Given the description of an element on the screen output the (x, y) to click on. 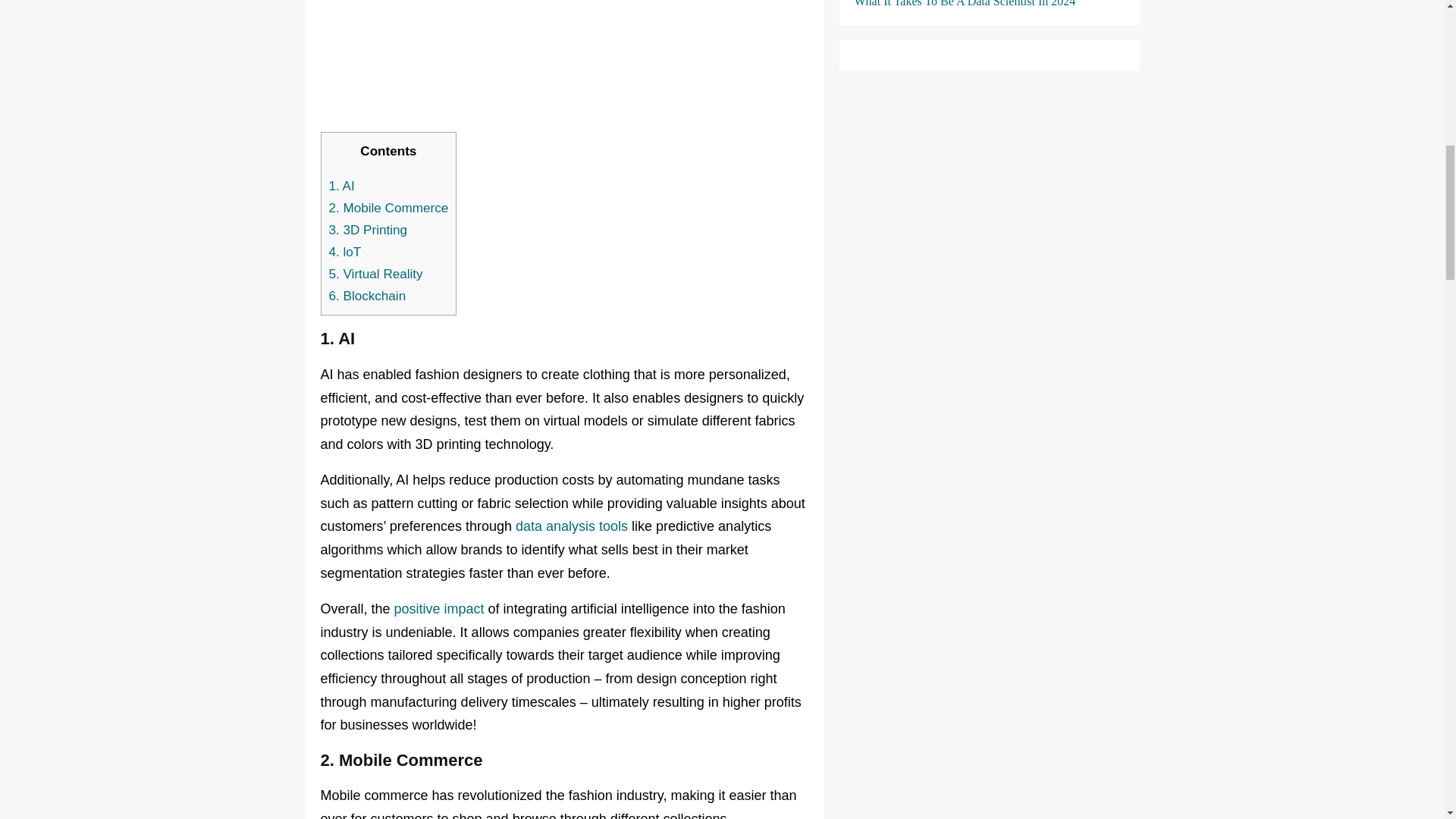
1. AI (342, 186)
 What It Takes To Be A Data Scientist In 2024  (964, 3)
